Given the description of an element on the screen output the (x, y) to click on. 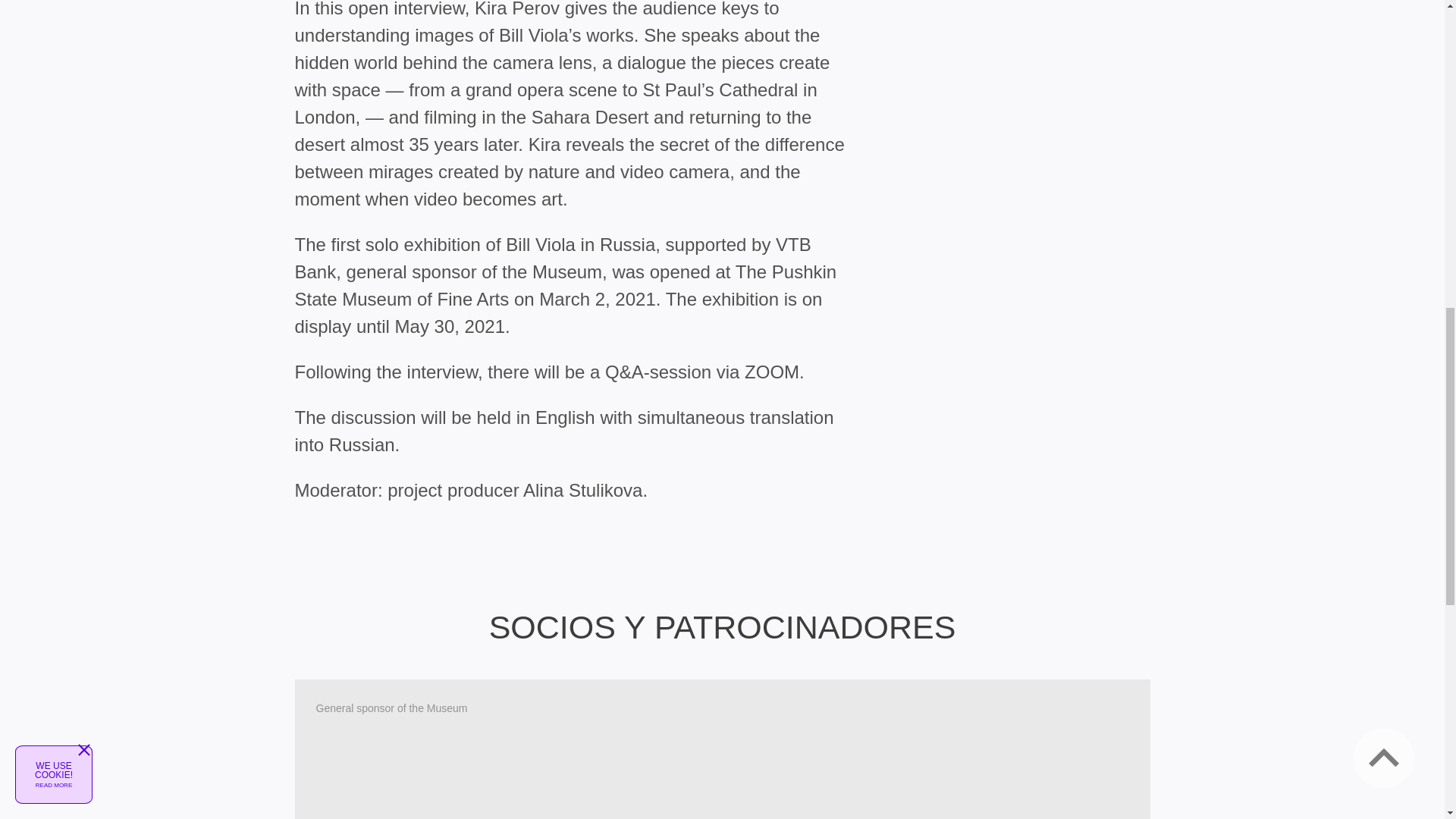
General sponsor of the Museum (722, 749)
General sponsor of the Museum (722, 749)
